Given the description of an element on the screen output the (x, y) to click on. 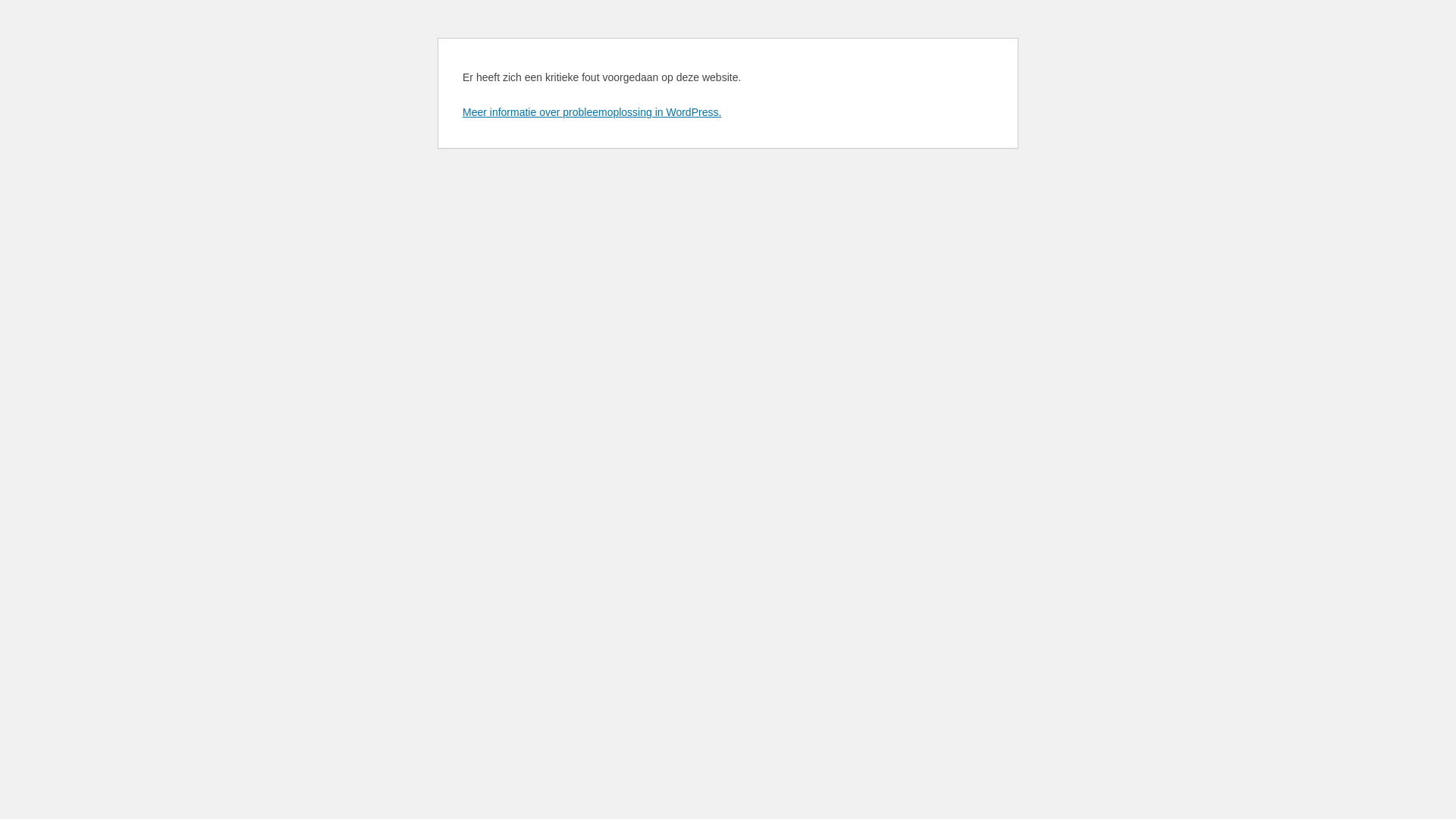
Meer informatie over probleemoplossing in WordPress. Element type: text (591, 112)
